Given the description of an element on the screen output the (x, y) to click on. 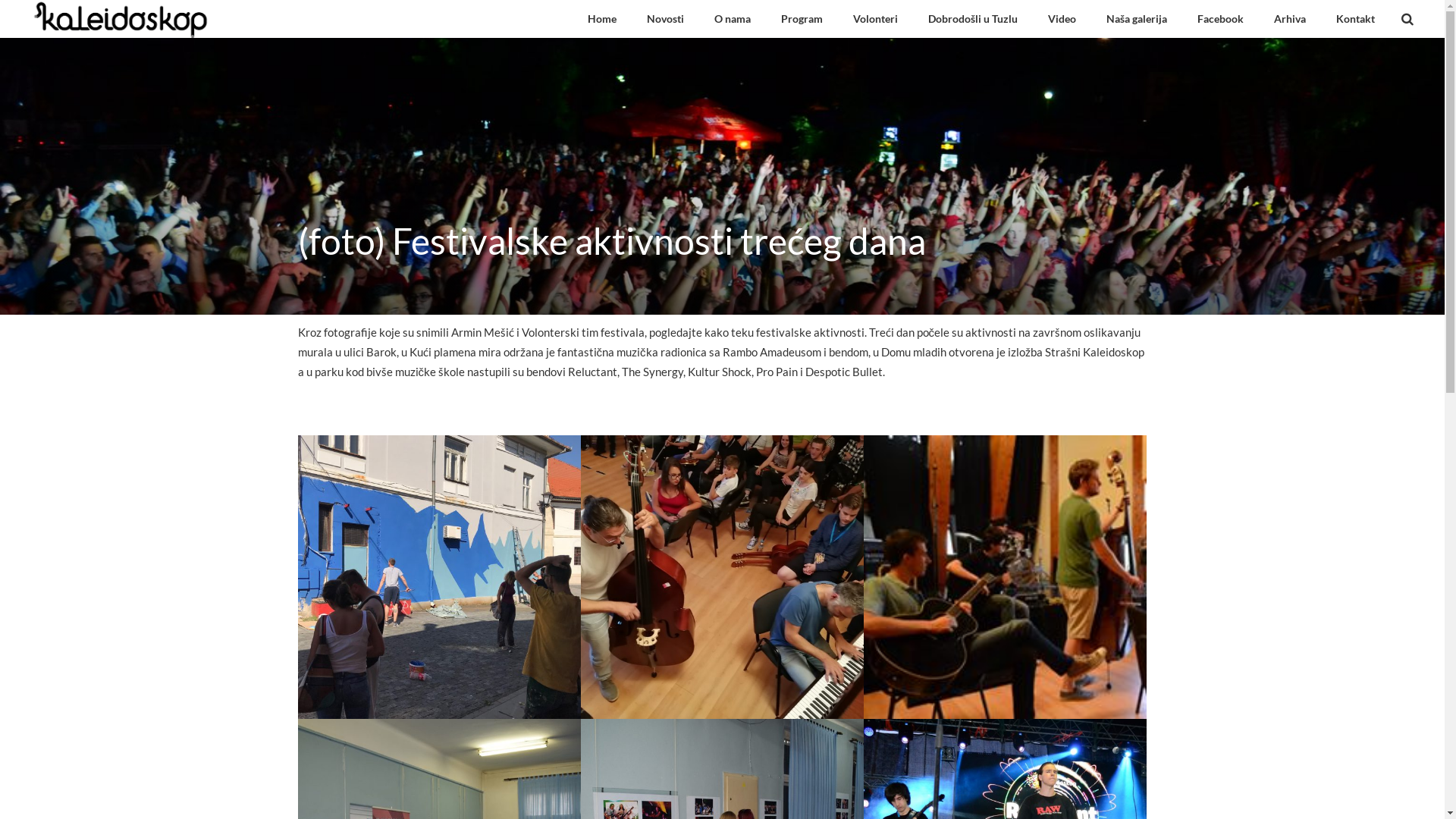
Home Element type: text (601, 18)
IMG_6073 Element type: hover (438, 576)
O nama Element type: text (732, 18)
Arhiva Element type: text (1289, 18)
Volonteri Element type: text (875, 18)
Facebook Element type: text (1220, 18)
Video Element type: text (1061, 18)
37397682_1920992481254302_8407991823062007808_n Element type: hover (1004, 576)
Program Element type: text (801, 18)
Novosti Element type: text (665, 18)
Kontakt Element type: text (1355, 18)
sdr Element type: hover (721, 576)
